Given the description of an element on the screen output the (x, y) to click on. 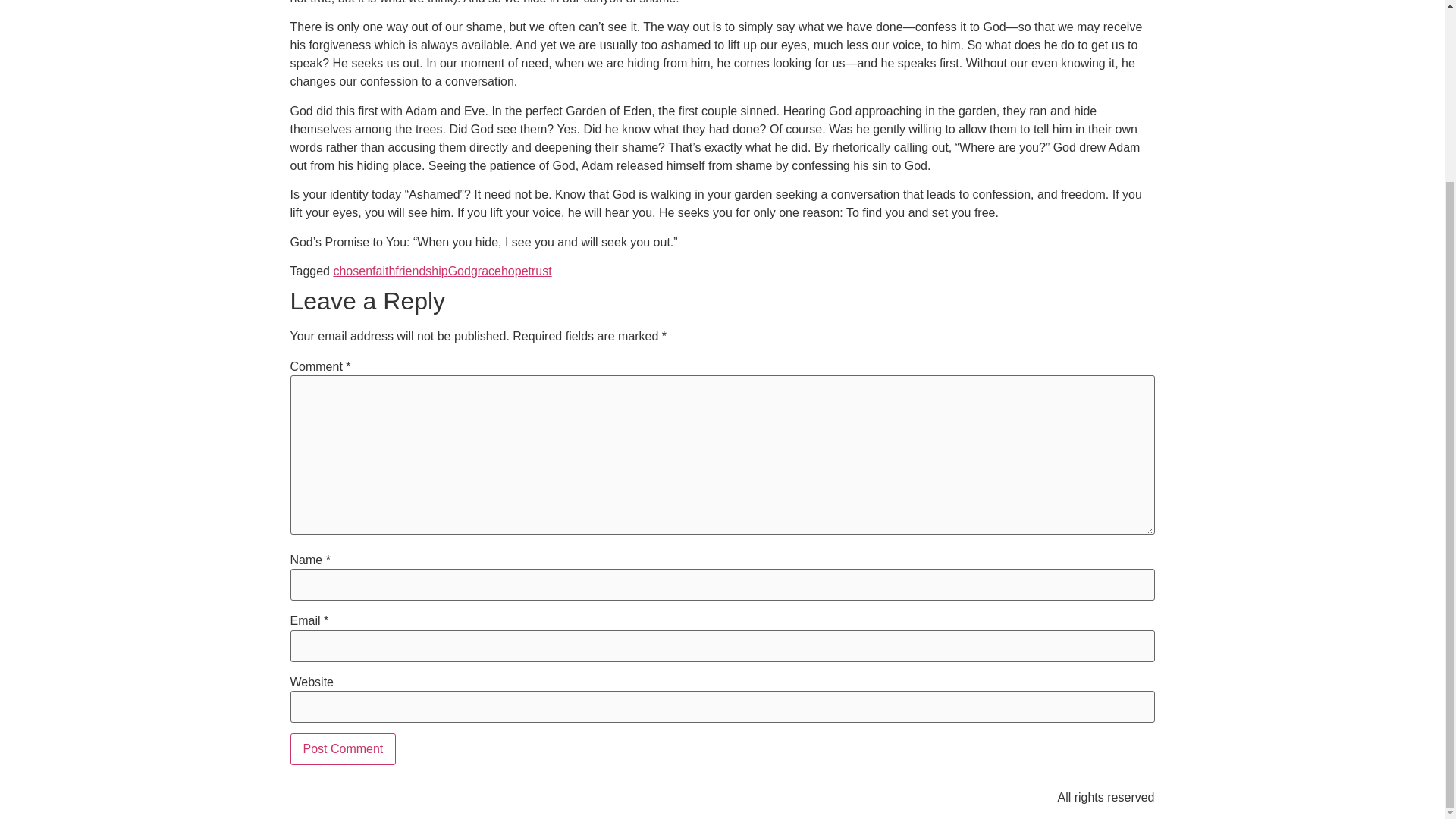
grace (485, 270)
Post Comment (342, 748)
Post Comment (342, 748)
faith (383, 270)
chosen (352, 270)
trust (539, 270)
friendship (420, 270)
God (459, 270)
hope (514, 270)
